Given the description of an element on the screen output the (x, y) to click on. 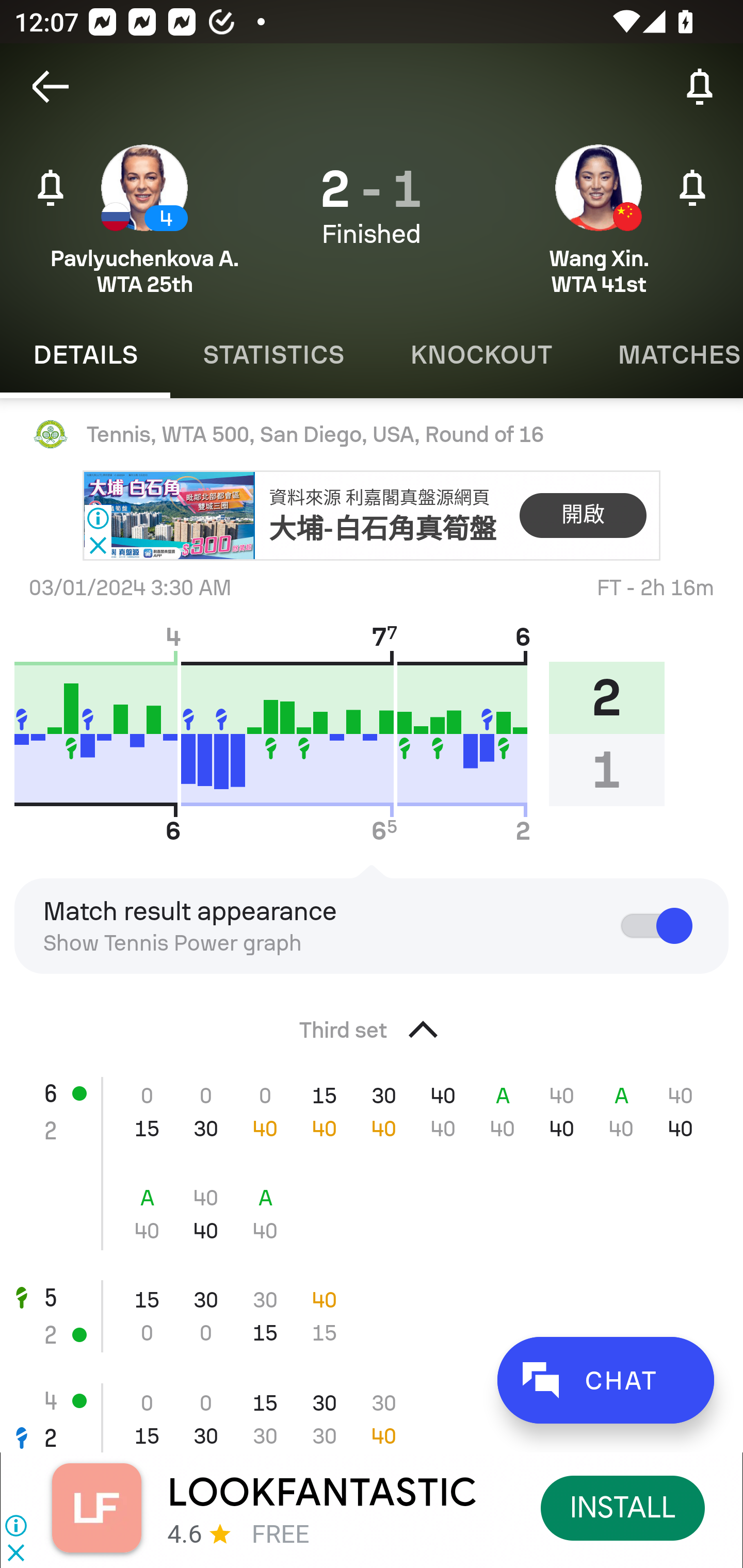
Navigate up (50, 86)
Statistics STATISTICS (273, 355)
Knockout KNOCKOUT (480, 355)
Matches MATCHES (663, 355)
Tennis, WTA 500, San Diego, USA, Round of 16 (371, 434)
B30001746 (168, 515)
資料來源 利嘉閣真盤源網頁 (379, 497)
開啟 (582, 515)
大埔-白石角真筍盤 (382, 528)
4 6 7 7 6 5 6 2 2 1 (346, 733)
Third set (371, 1023)
A 40 A 40 40 40 (371, 1214)
5 15 30 30 40 2 0 0 15 15 (371, 1316)
CHAT (605, 1380)
4 0 0 15 30 30 2 15 30 30 30 40 (371, 1409)
LOOKFANTASTIC (322, 1493)
INSTALL (623, 1507)
